Given the description of an element on the screen output the (x, y) to click on. 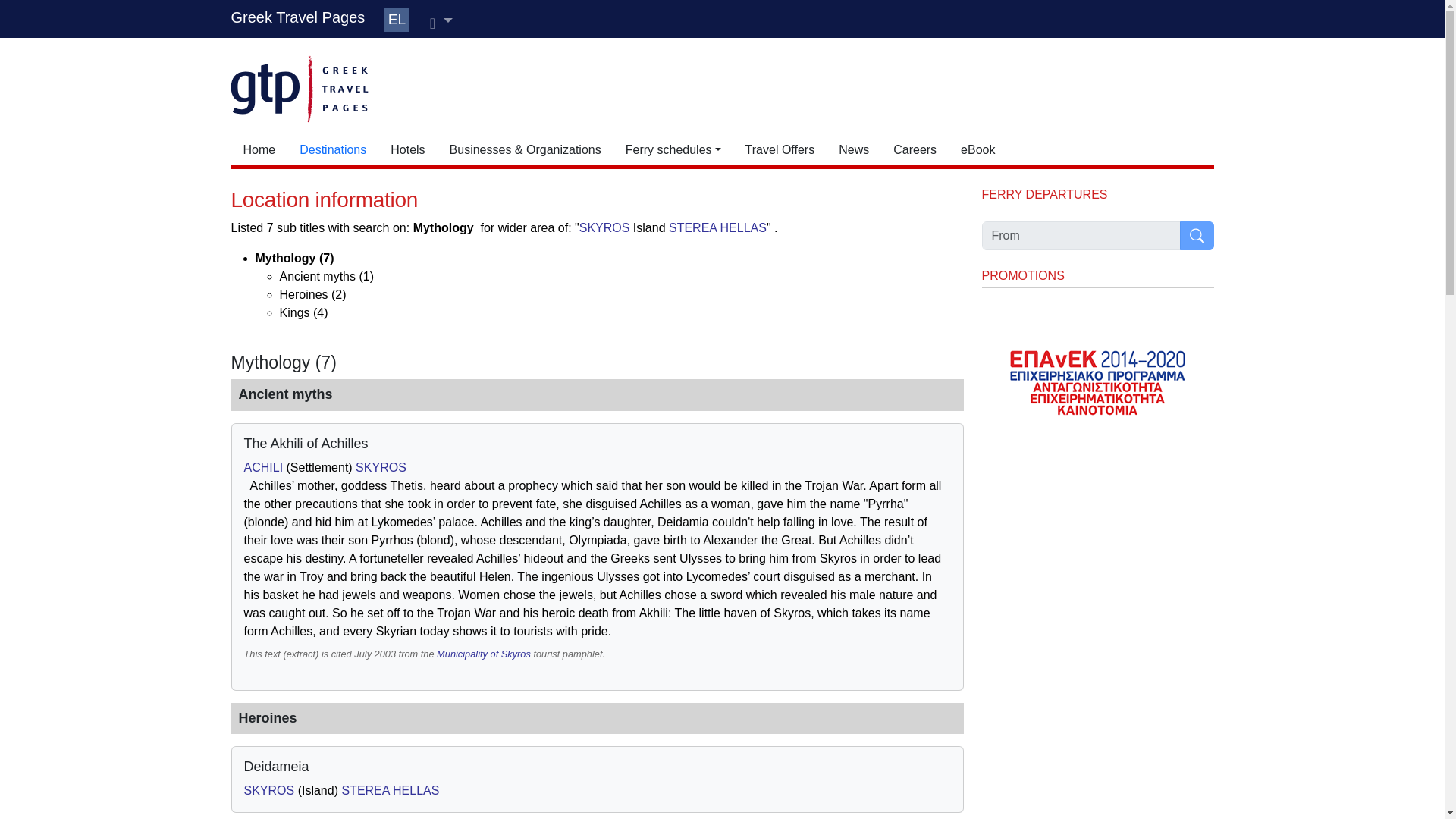
Destinations (332, 150)
Ferry schedules (672, 150)
Hotels (407, 150)
3rd party ad content (772, 87)
EL (396, 19)
Greek Travel Pages (297, 16)
User menu (440, 21)
Home (258, 150)
